Given the description of an element on the screen output the (x, y) to click on. 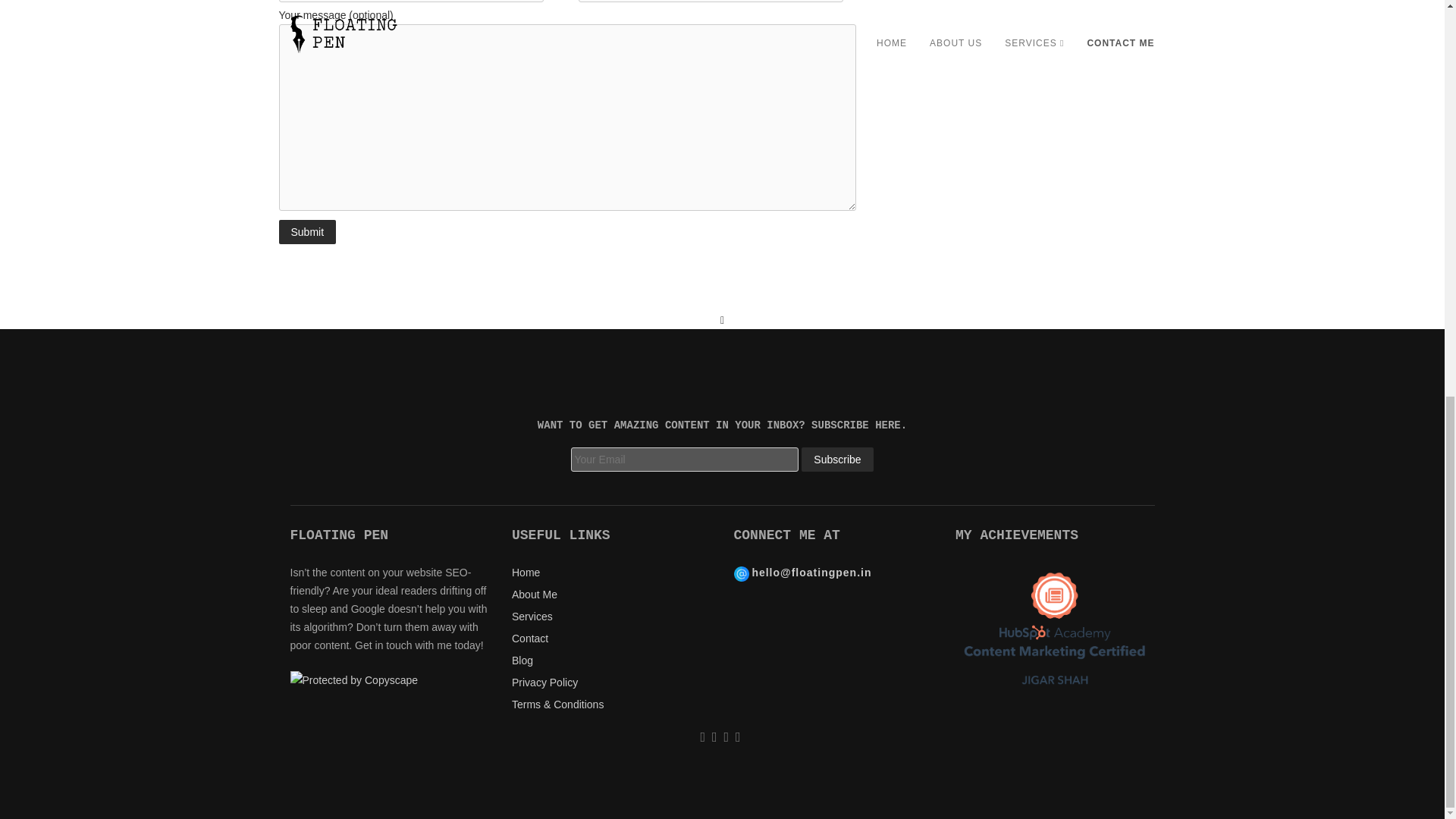
Submit (307, 232)
Services (532, 616)
Home (526, 572)
Subscribe (837, 459)
Blog (522, 660)
Content Marketing (1054, 627)
Submit (307, 232)
Protected by Copyscape - Do not copy content from this page. (353, 679)
About Me (534, 594)
Privacy Policy (545, 682)
Contact (530, 638)
Subscribe (837, 459)
